Given the description of an element on the screen output the (x, y) to click on. 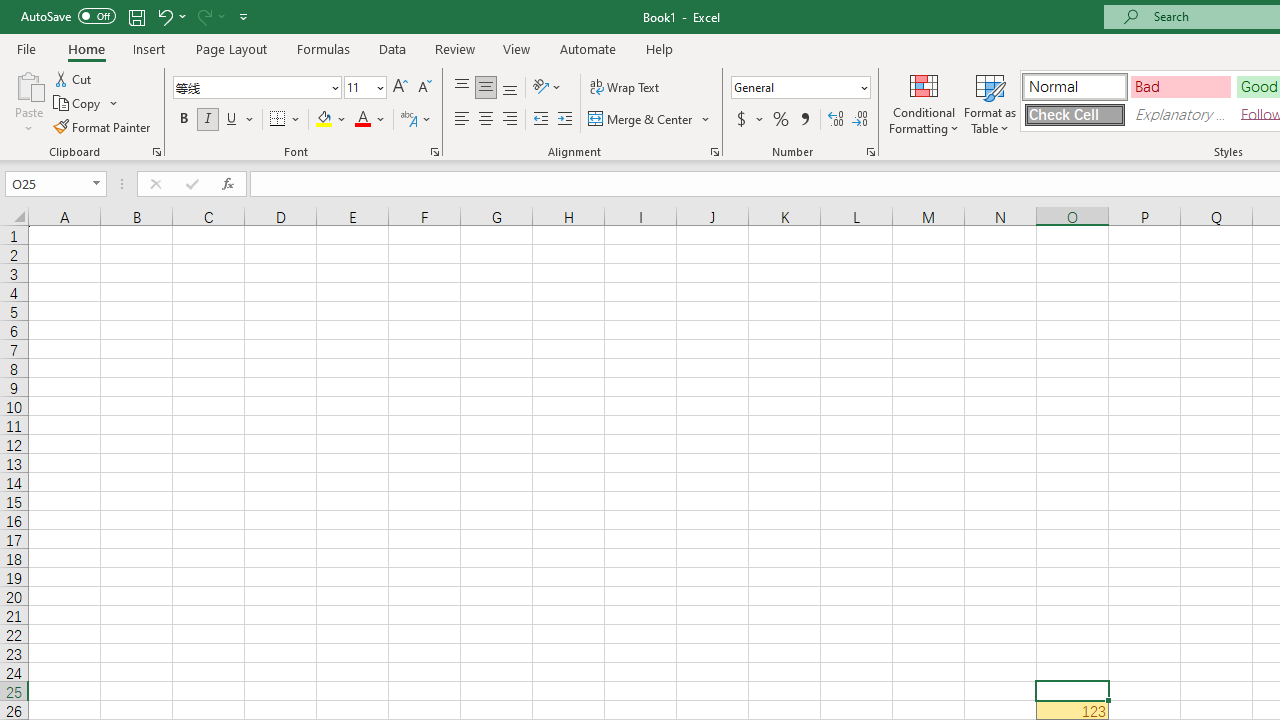
Middle Align (485, 87)
Number Format (800, 87)
Accounting Number Format (749, 119)
Explanatory Text (1180, 114)
Accounting Number Format (741, 119)
Decrease Font Size (424, 87)
Font (256, 87)
Format Cell Alignment (714, 151)
Office Clipboard... (156, 151)
Center (485, 119)
